Given the description of an element on the screen output the (x, y) to click on. 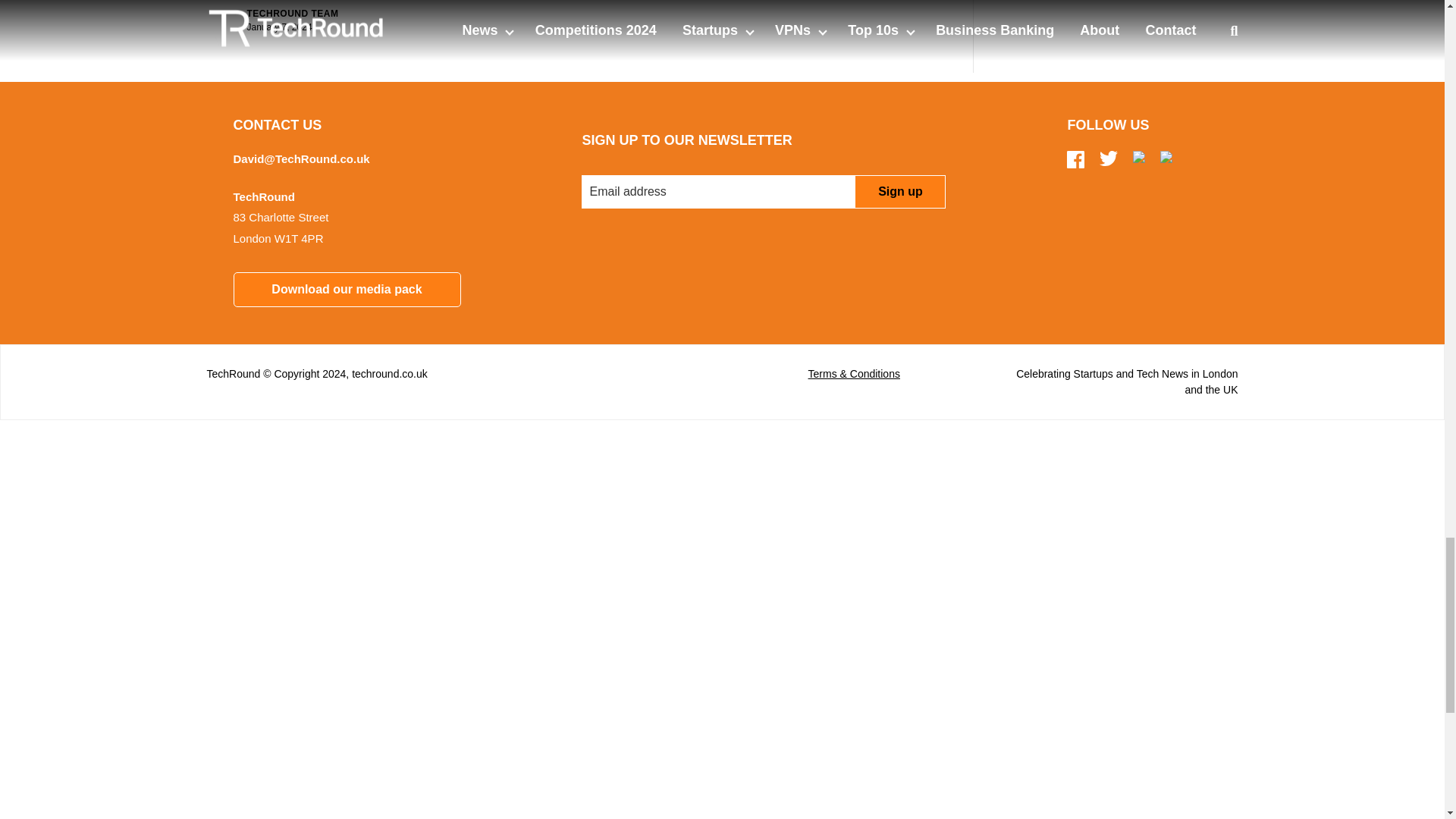
Sign up (899, 191)
